Given the description of an element on the screen output the (x, y) to click on. 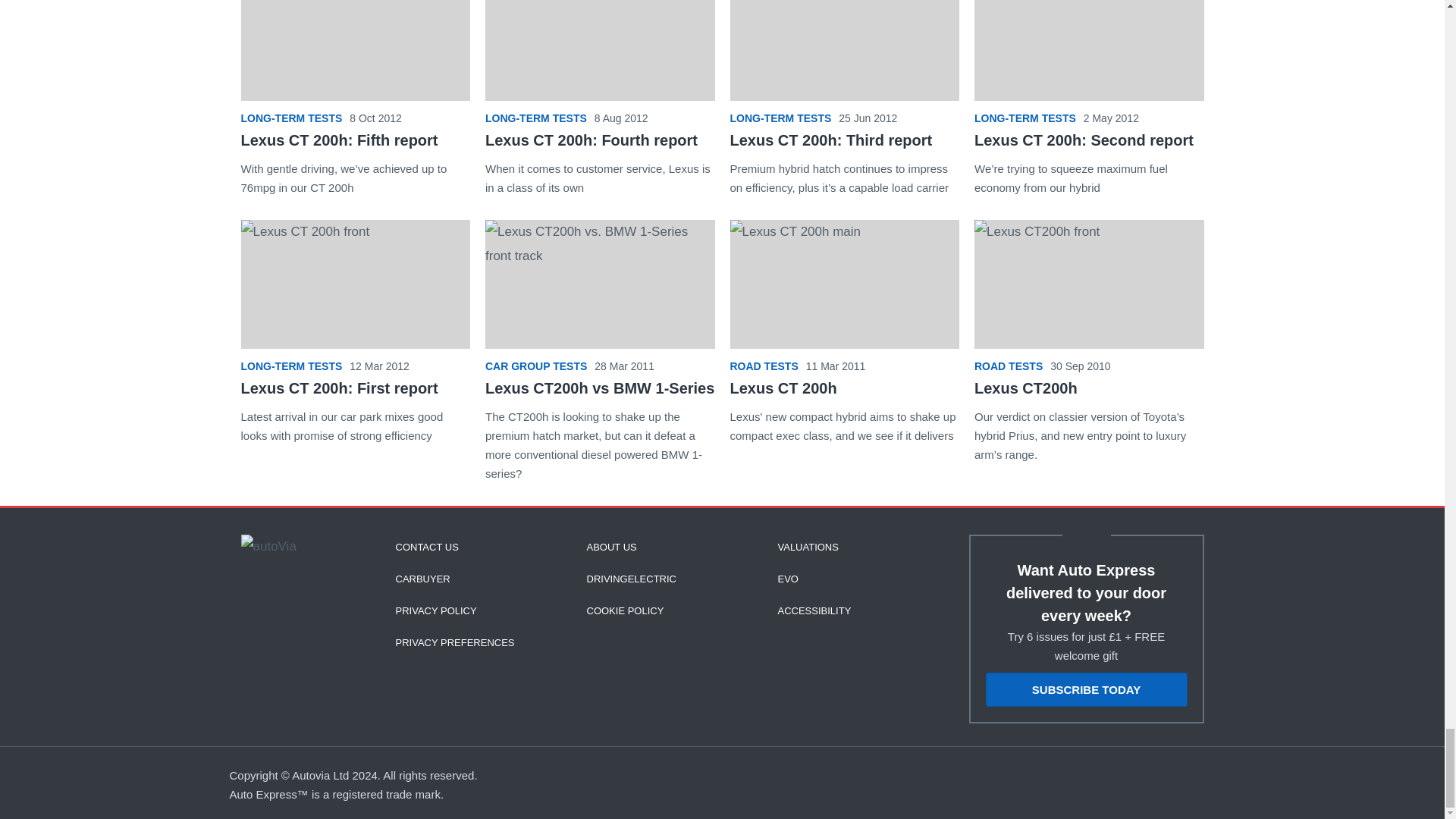
SUBSCRIBE TODAY (1086, 689)
